Given the description of an element on the screen output the (x, y) to click on. 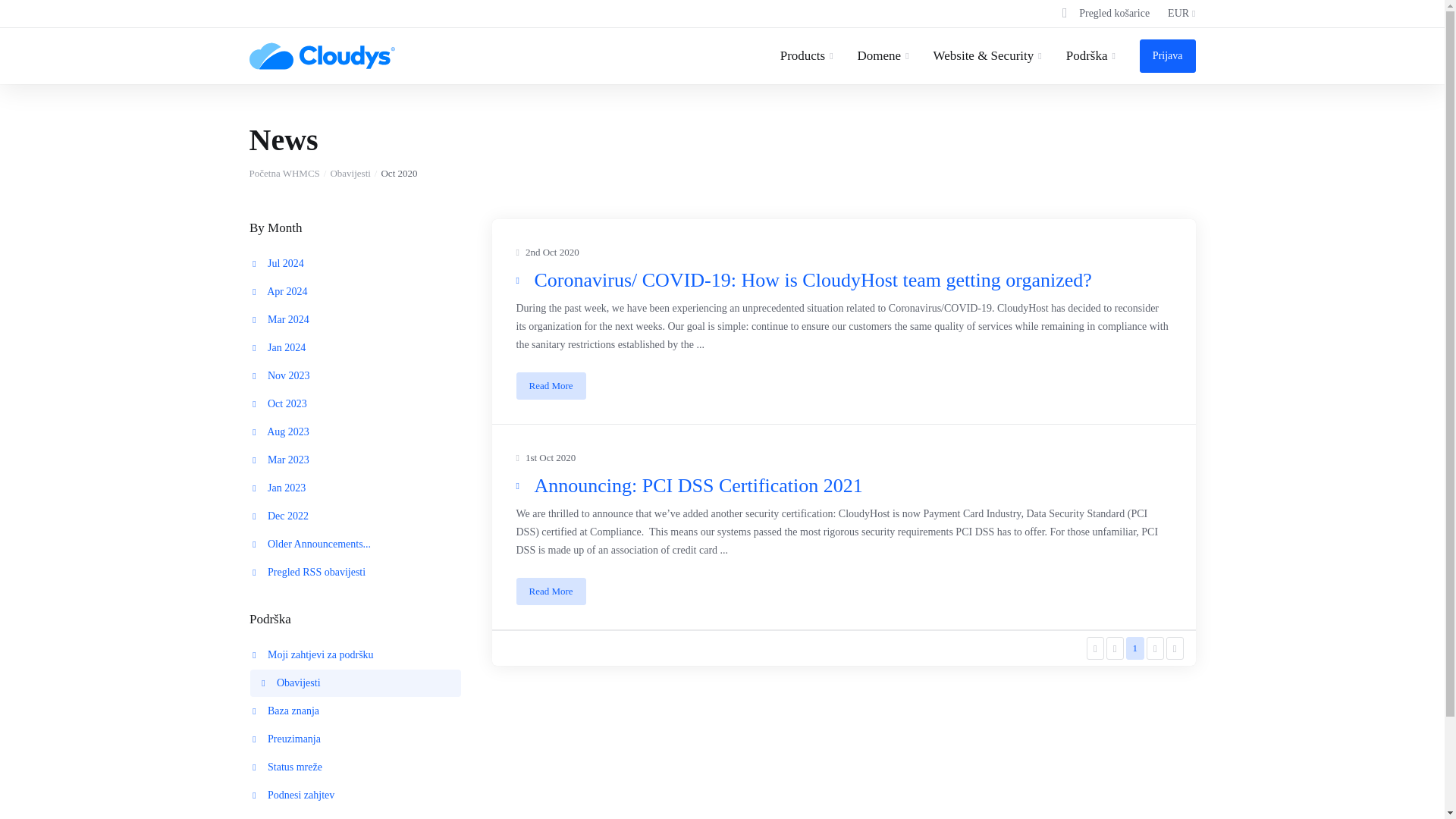
Nov 2023 (355, 375)
Mar 2023 (355, 460)
EUR (1181, 13)
Cloudys (322, 56)
Mar 2024 (355, 319)
Jan 2023 (355, 488)
Domene (883, 55)
Aug 2023 (355, 431)
Products (806, 55)
Prijava (1167, 55)
